Given the description of an element on the screen output the (x, y) to click on. 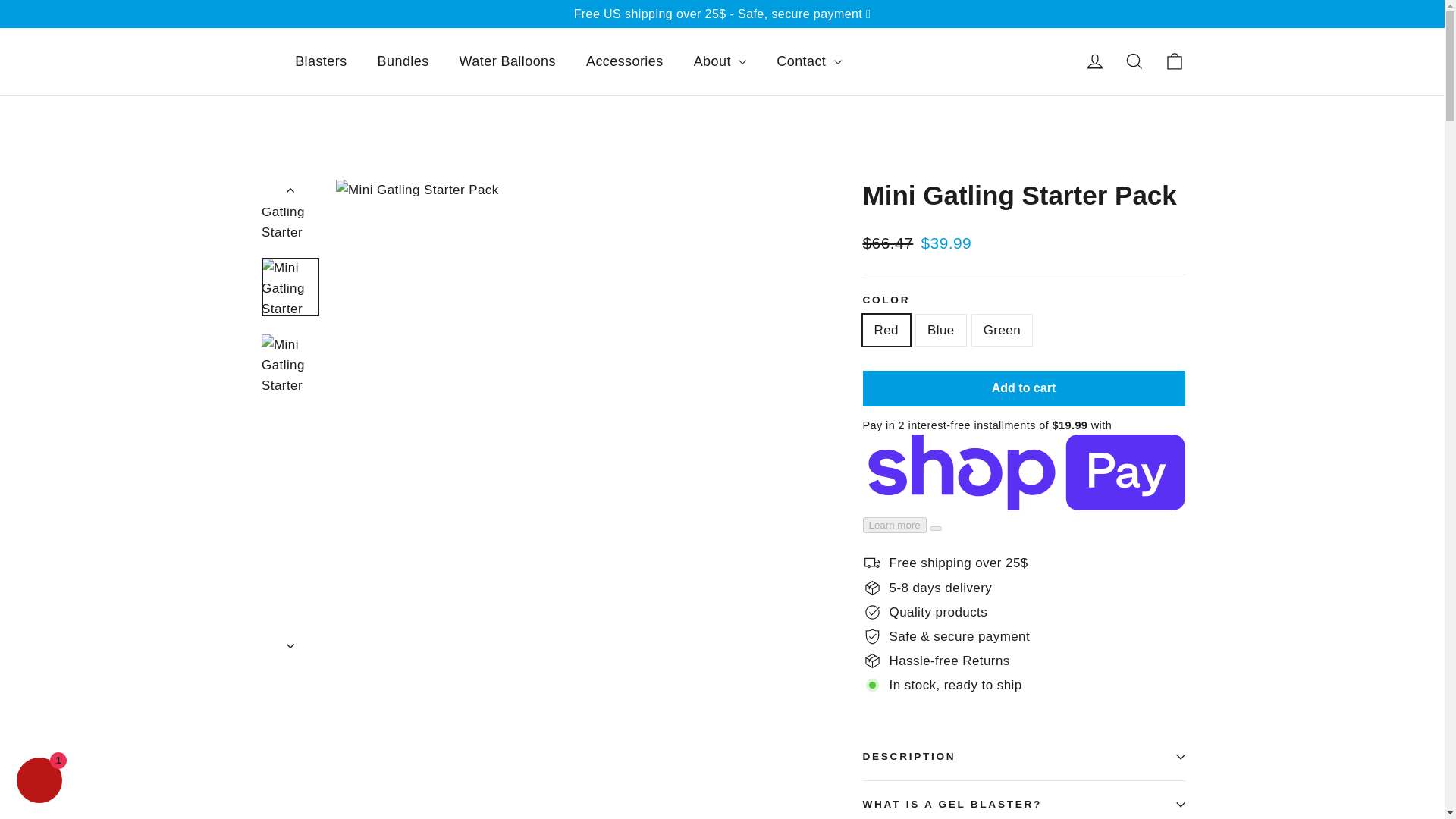
About (719, 61)
Blasters (320, 61)
Search (1134, 61)
Shopify online store chat (38, 781)
Bundles (403, 61)
Log in (1095, 61)
Water Balloons (507, 61)
Accessories (624, 61)
Contact (808, 61)
Cart (1173, 61)
